Given the description of an element on the screen output the (x, y) to click on. 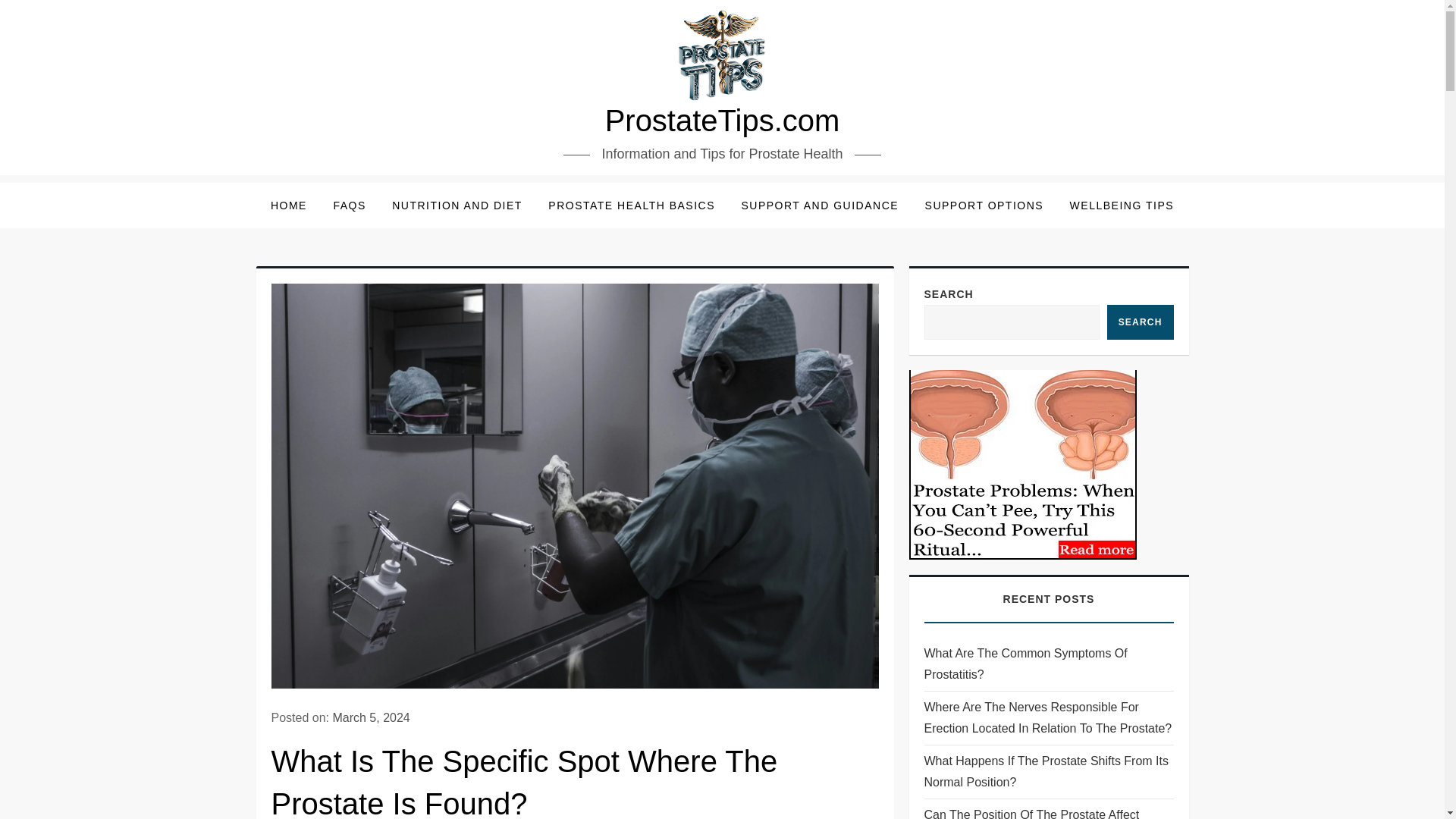
PROSTATE HEALTH BASICS (631, 205)
FAQS (349, 205)
SUPPORT AND GUIDANCE (819, 205)
SUPPORT OPTIONS (984, 205)
HOME (288, 205)
March 5, 2024 (370, 717)
ProstateTips.com (722, 120)
NUTRITION AND DIET (457, 205)
WELLBEING TIPS (1121, 205)
